Given the description of an element on the screen output the (x, y) to click on. 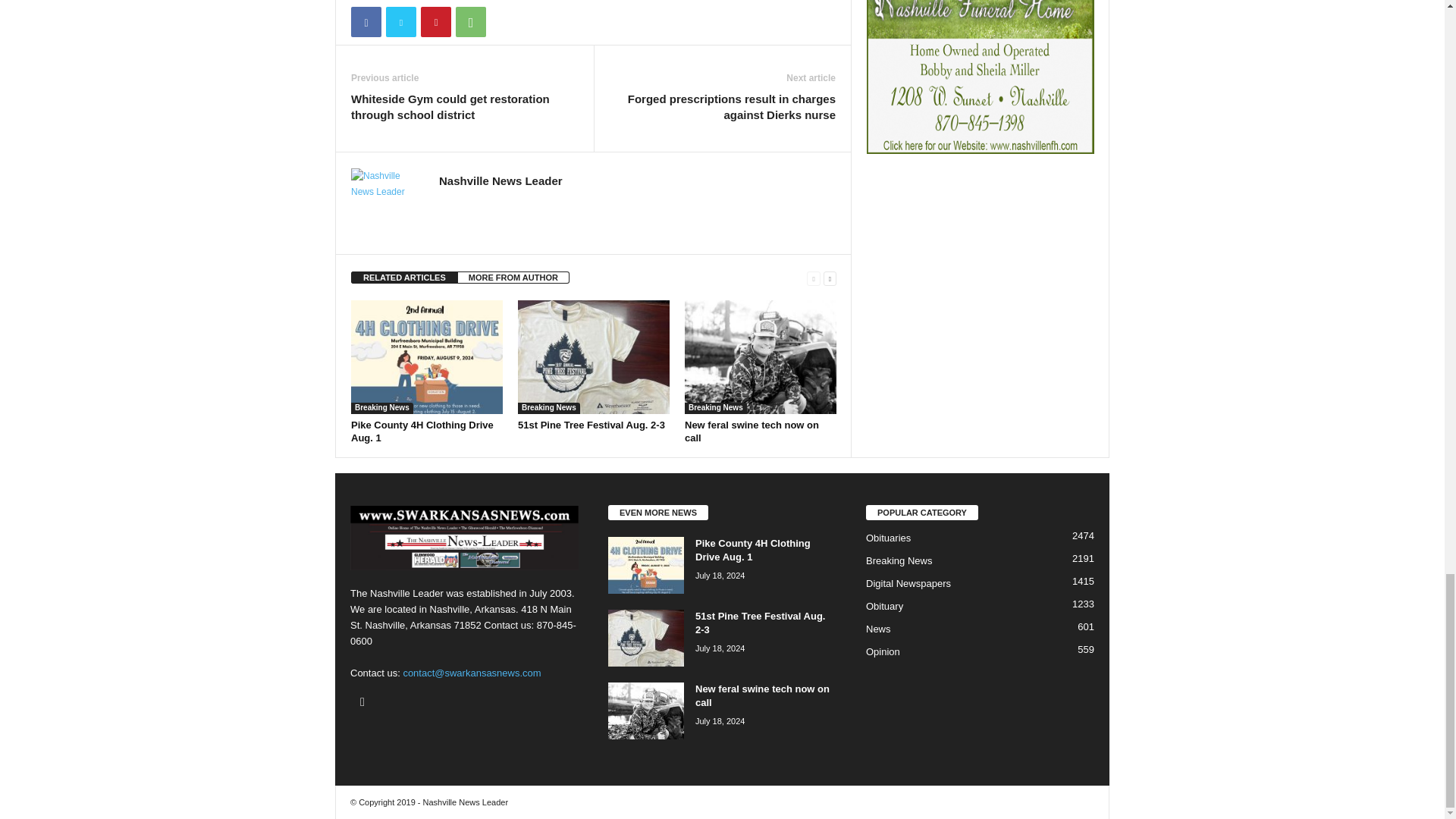
WhatsApp (470, 21)
Facebook (365, 21)
Twitter (400, 21)
Pinterest (435, 21)
